Given the description of an element on the screen output the (x, y) to click on. 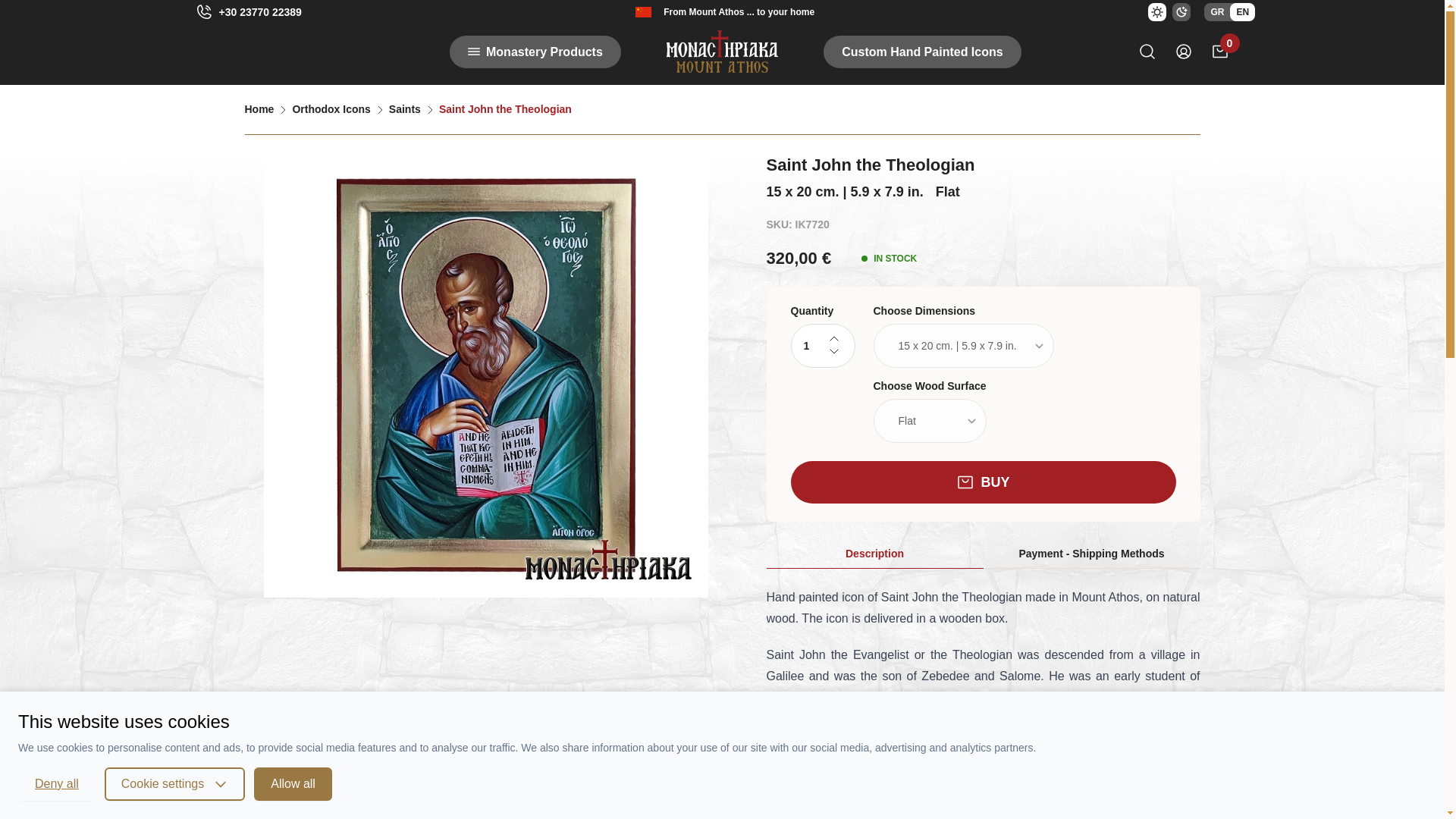
1 (822, 345)
Saints (404, 109)
Orthodox Icons (330, 109)
Custom Hand Painted Icons (922, 51)
BUY (982, 482)
Home (258, 109)
Monastery Products (535, 51)
EN (1242, 12)
0 (1218, 51)
GR (1217, 12)
